Given the description of an element on the screen output the (x, y) to click on. 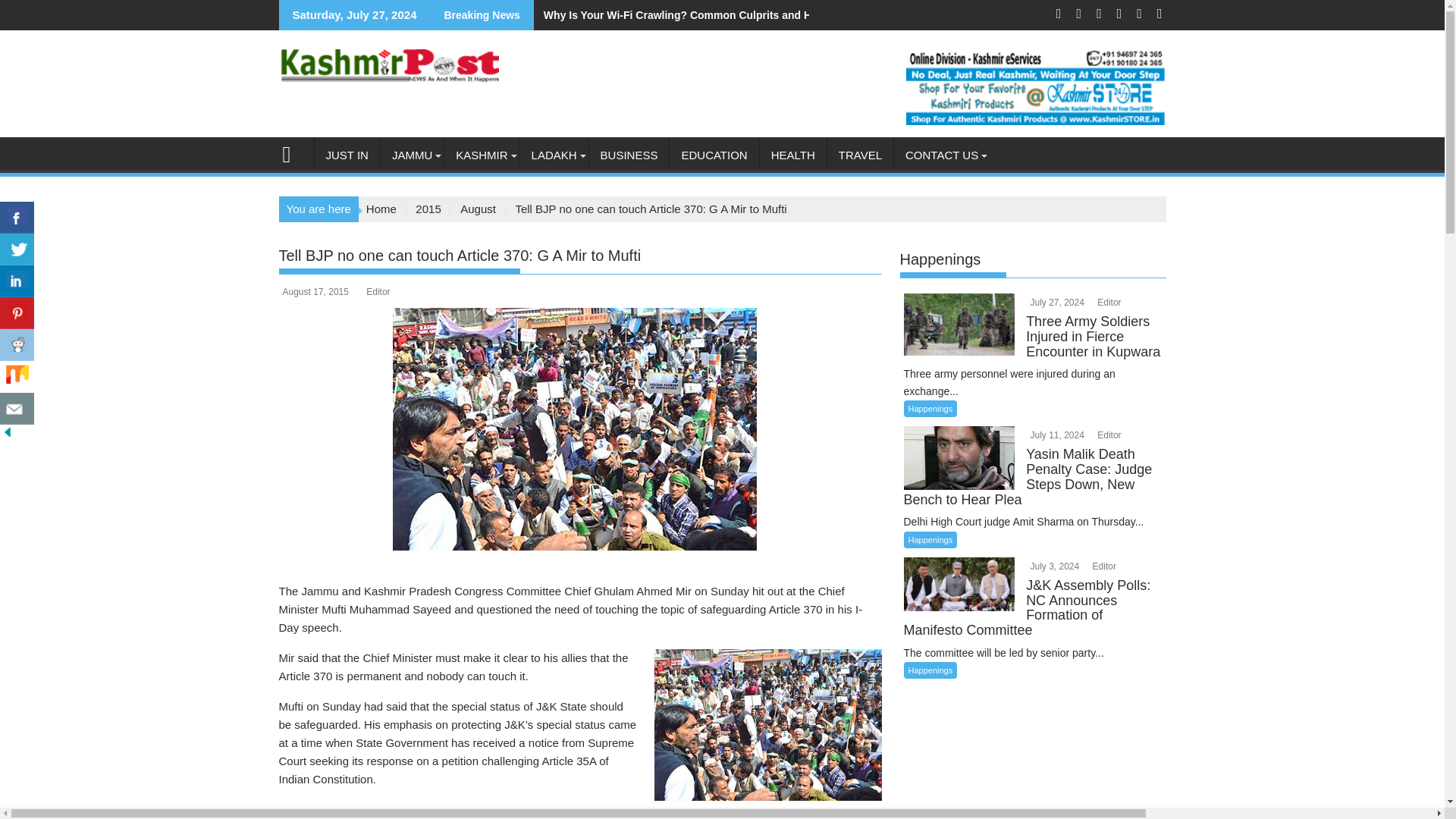
KASHMIR (481, 155)
Kashmir POST (293, 152)
Schools Shut, Security Beefed Up on Jammu-Pathankot Highway (415, 15)
JAMMU (412, 155)
JUST IN (346, 155)
Schools Shut, Security Beefed Up on Jammu-Pathankot Highway (415, 15)
Advertisement (580, 809)
